Given the description of an element on the screen output the (x, y) to click on. 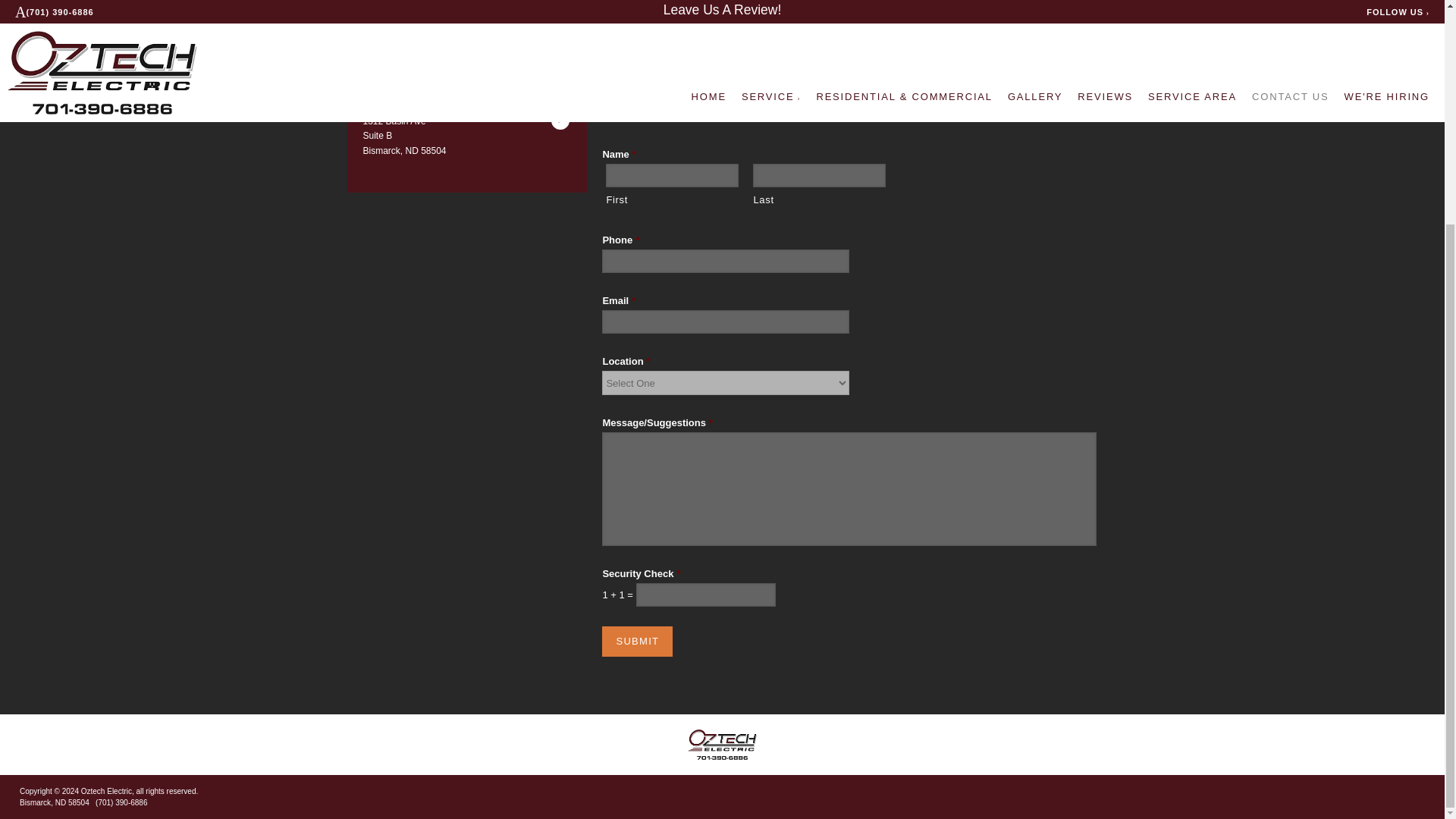
Oztech Electric (722, 744)
Submit (637, 641)
See Details (560, 120)
